Given the description of an element on the screen output the (x, y) to click on. 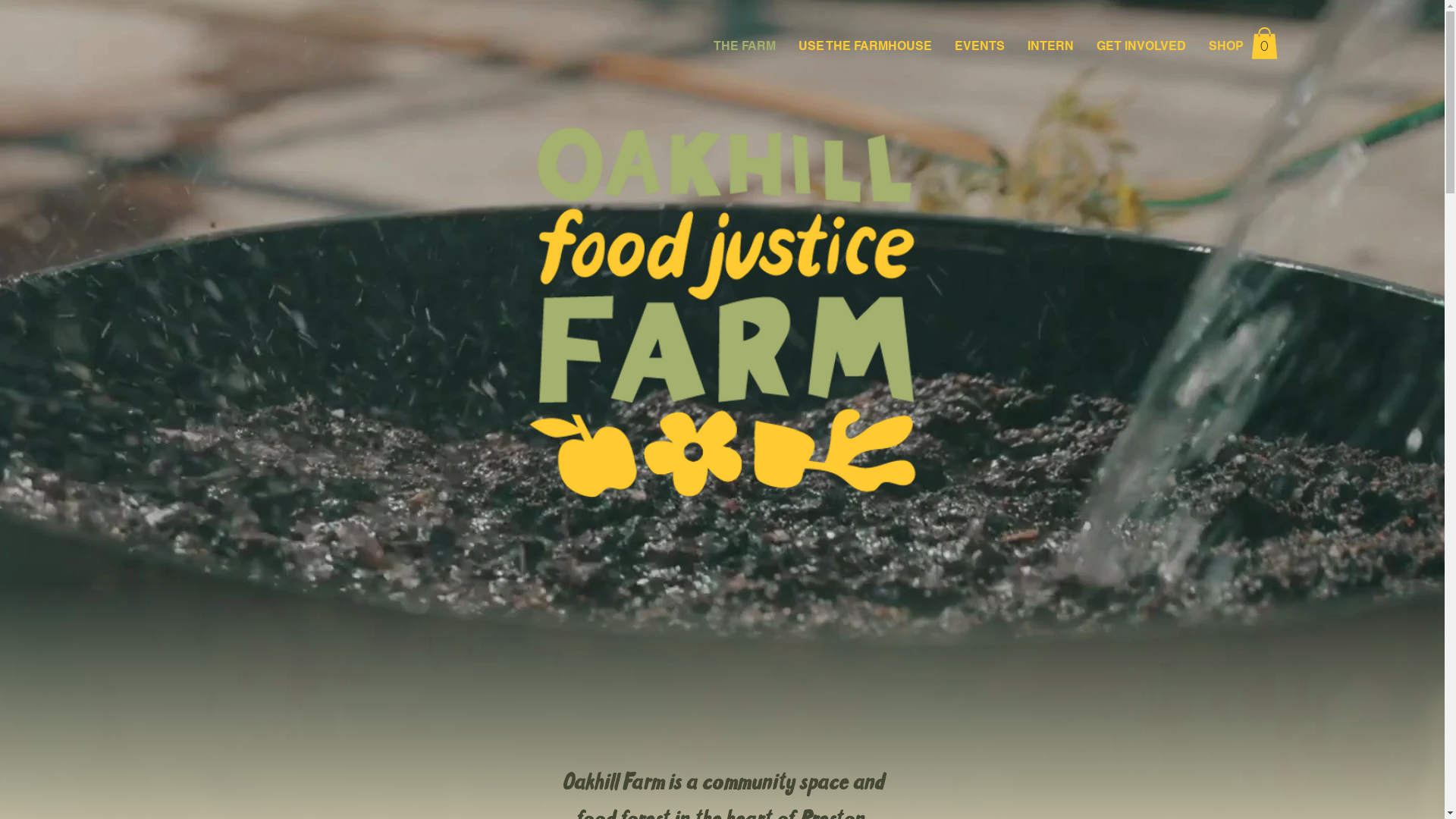
THE FARM Element type: text (744, 46)
SHOP Element type: text (1226, 46)
INTERN Element type: text (1050, 46)
USE THE FARMHOUSE Element type: text (865, 46)
0 Element type: text (1264, 43)
EVENTS Element type: text (979, 46)
